Given the description of an element on the screen output the (x, y) to click on. 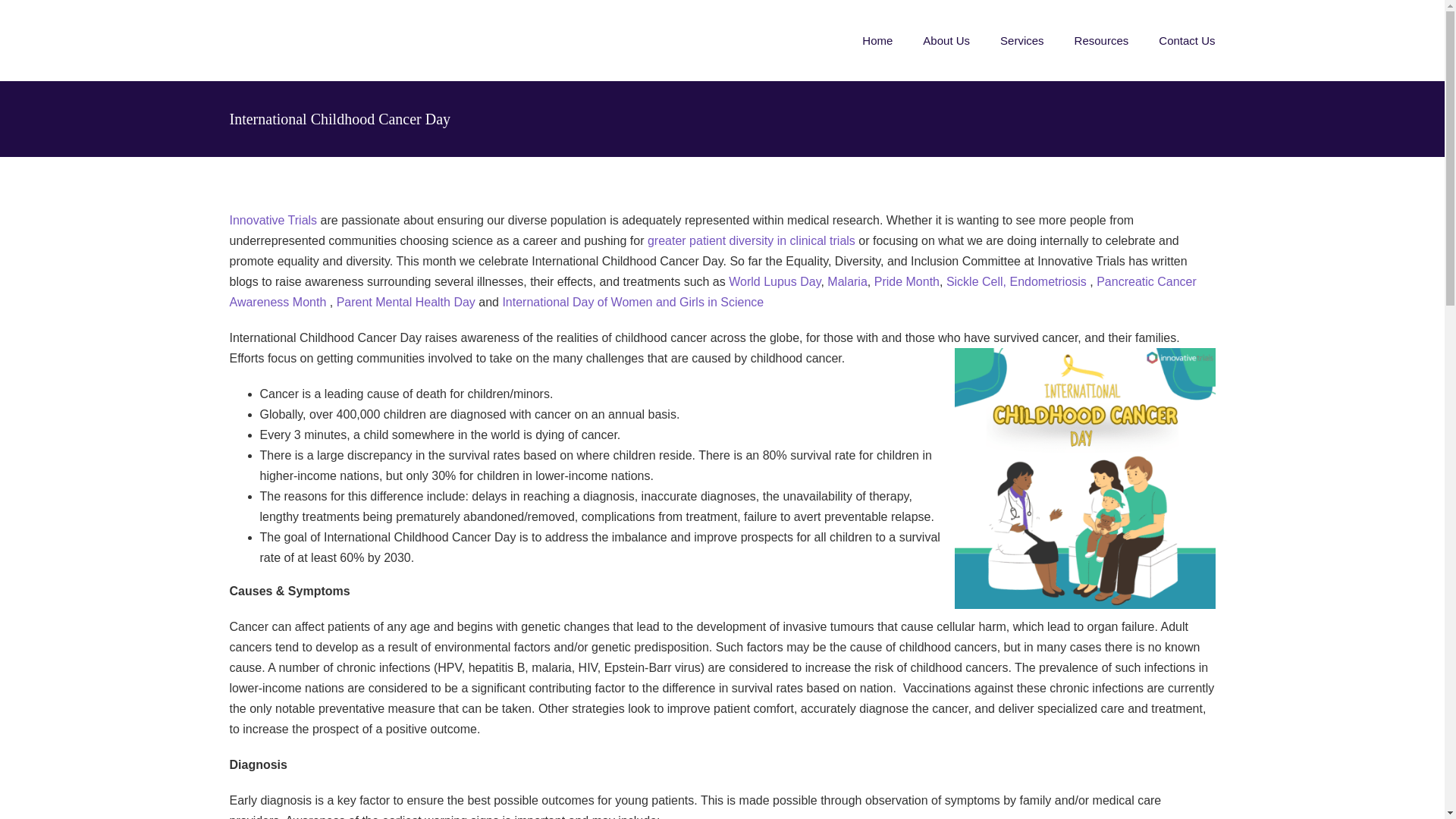
Sickle Cell, (976, 281)
greater patient diversity in clinical trials (751, 240)
Resources (1101, 40)
Pancreatic Cancer Awareness Month (711, 291)
World Lupus Day (775, 281)
Services (1021, 40)
Home (876, 40)
Pride Month (907, 281)
Parent Mental Health Day (406, 301)
International Day of Women and Girls in Science (632, 301)
Endometriosis (1047, 281)
About Us (946, 40)
Contact Us (1186, 40)
Malaria (846, 281)
Innovative Trials (272, 219)
